Given the description of an element on the screen output the (x, y) to click on. 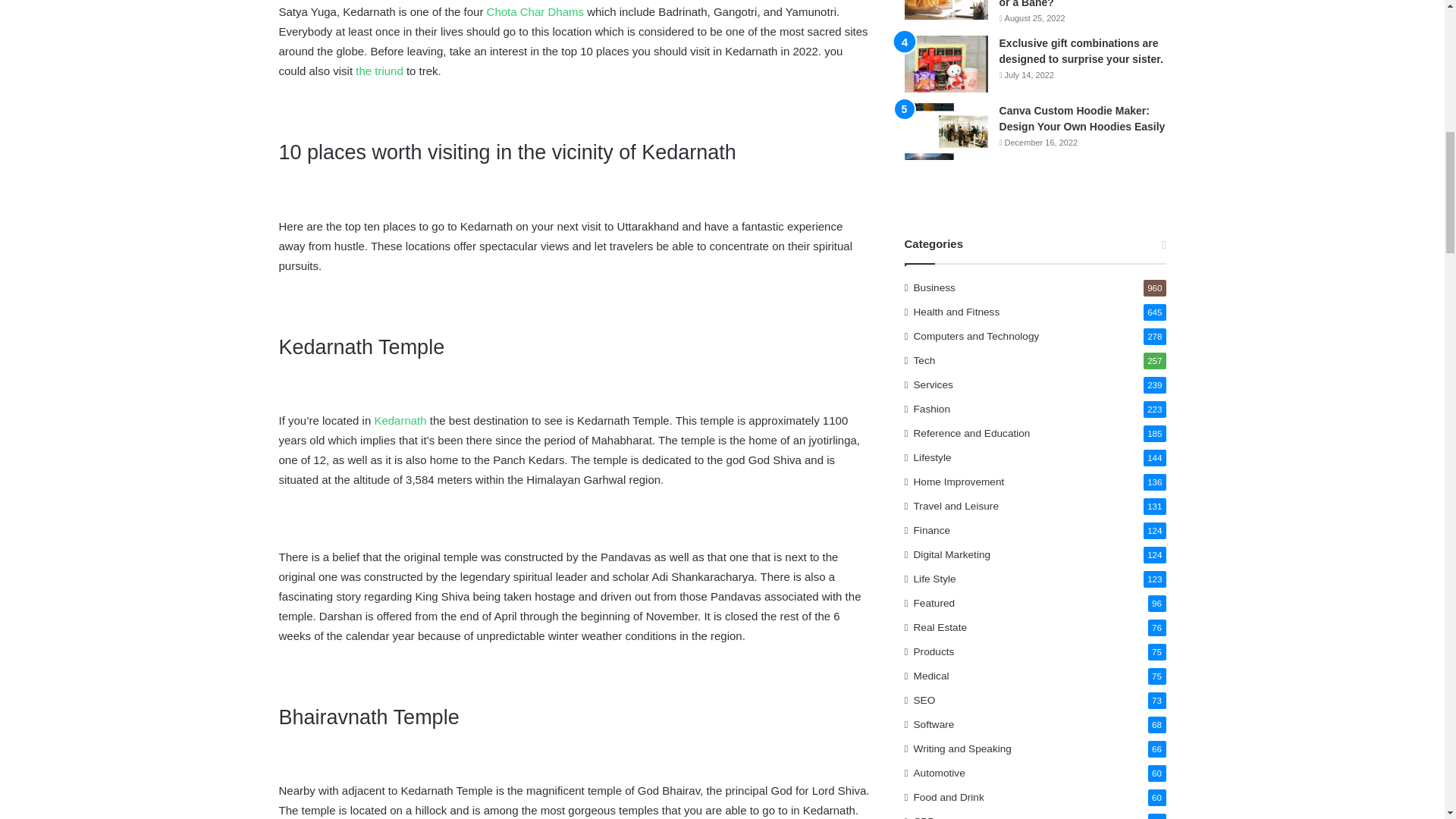
Kedarnath (400, 420)
Chota Char Dhams (534, 11)
the triund (379, 70)
